Given the description of an element on the screen output the (x, y) to click on. 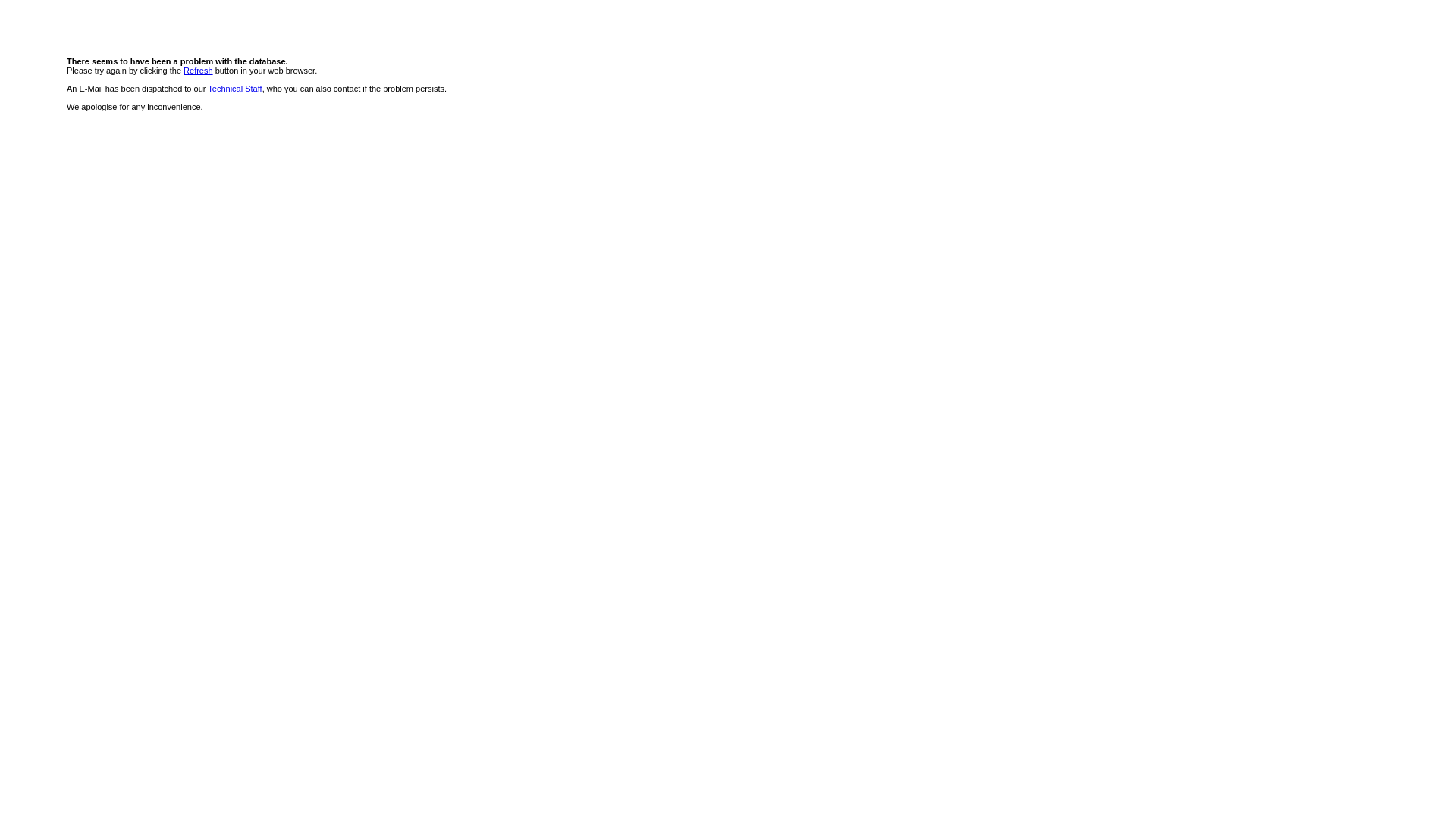
Refresh Element type: text (198, 70)
Technical Staff Element type: text (234, 88)
